Given the description of an element on the screen output the (x, y) to click on. 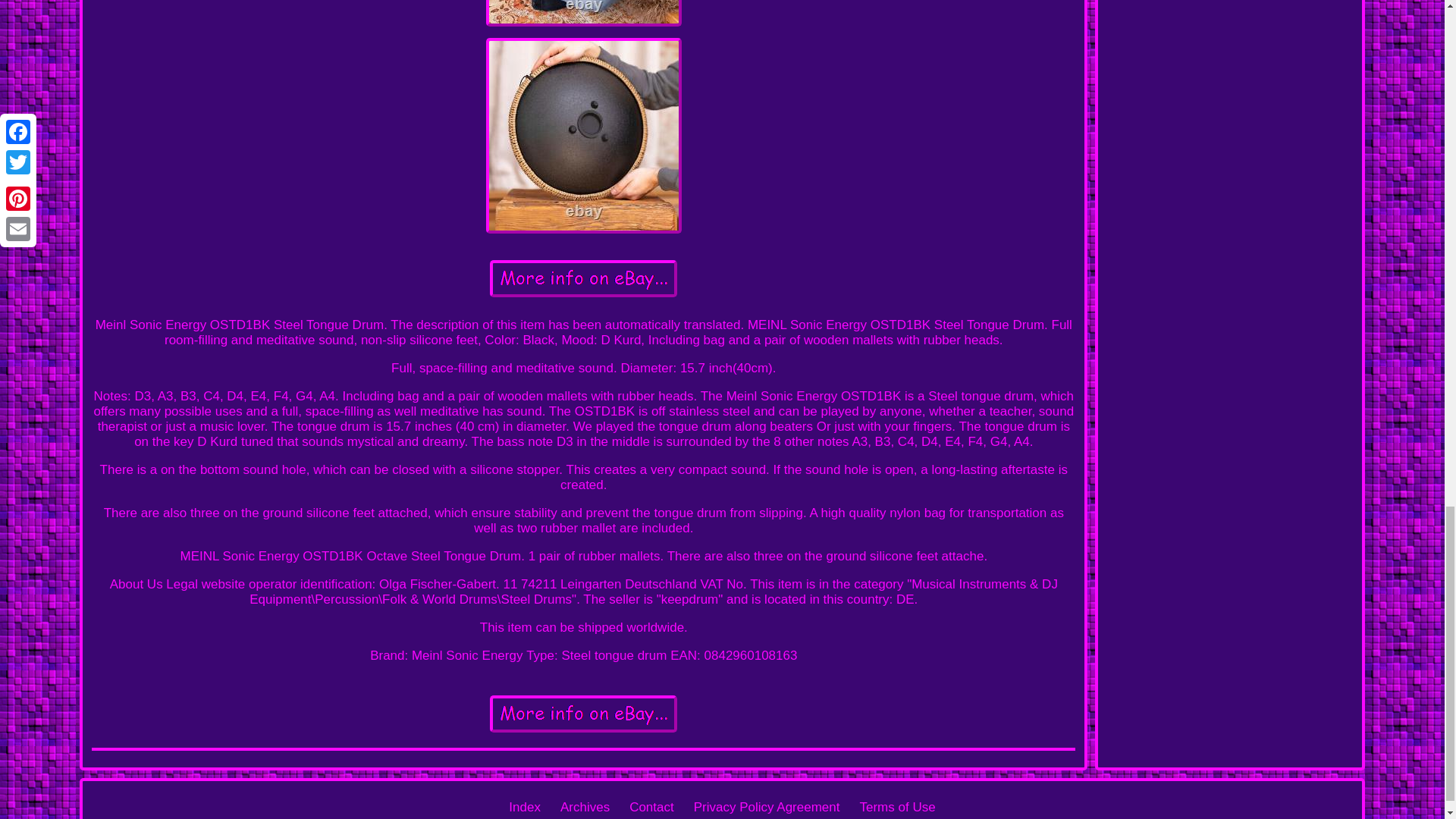
Meinl Sonic Energy OSTD1BK Steel Tongue Drum (583, 13)
Meinl Sonic Energy OSTD1BK Steel Tongue Drum (583, 713)
Meinl Sonic Energy OSTD1BK Steel Tongue Drum (583, 278)
Meinl Sonic Energy OSTD1BK Steel Tongue Drum (583, 135)
